Given the description of an element on the screen output the (x, y) to click on. 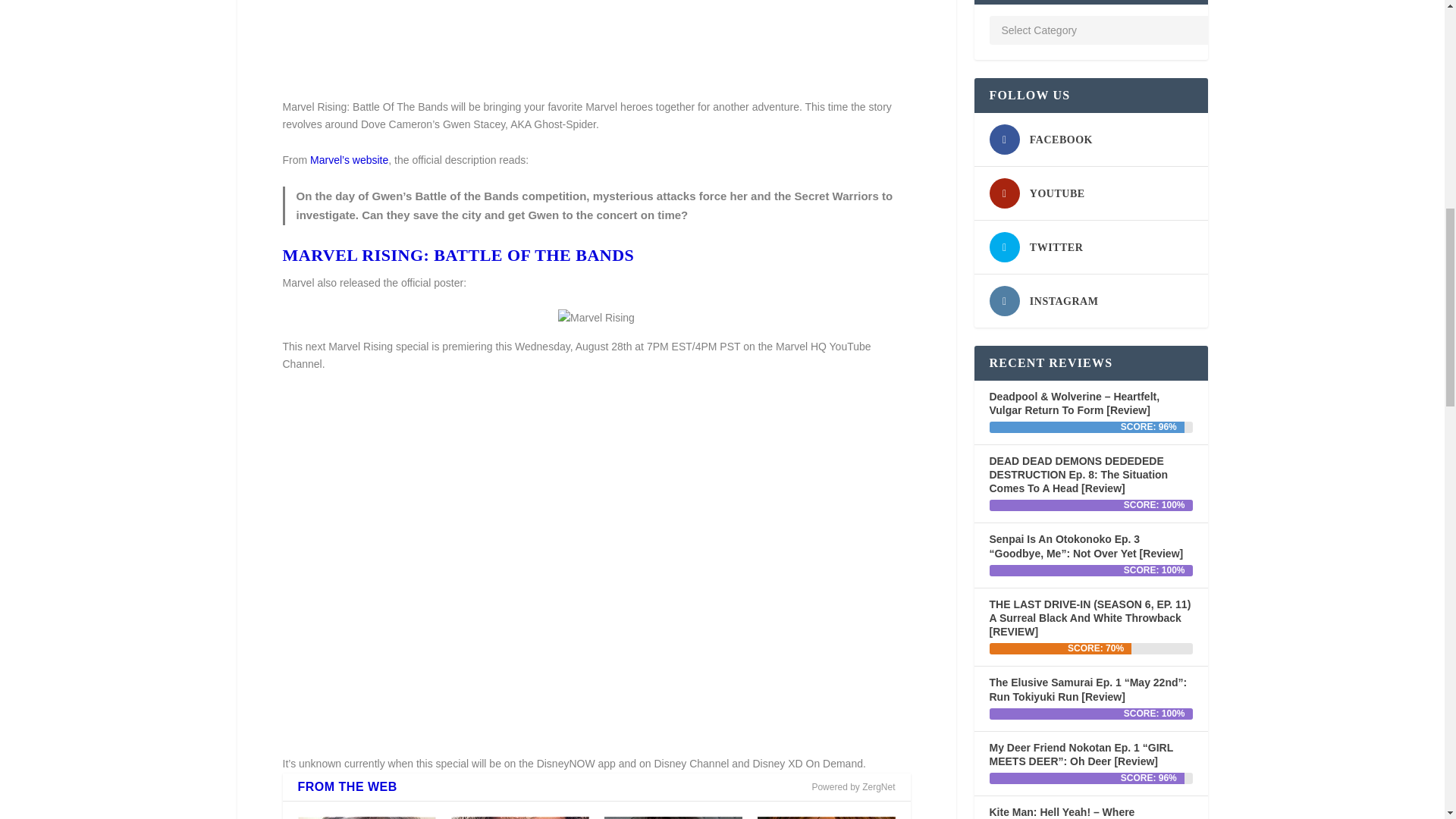
Powered by ZergNet (852, 787)
